Given the description of an element on the screen output the (x, y) to click on. 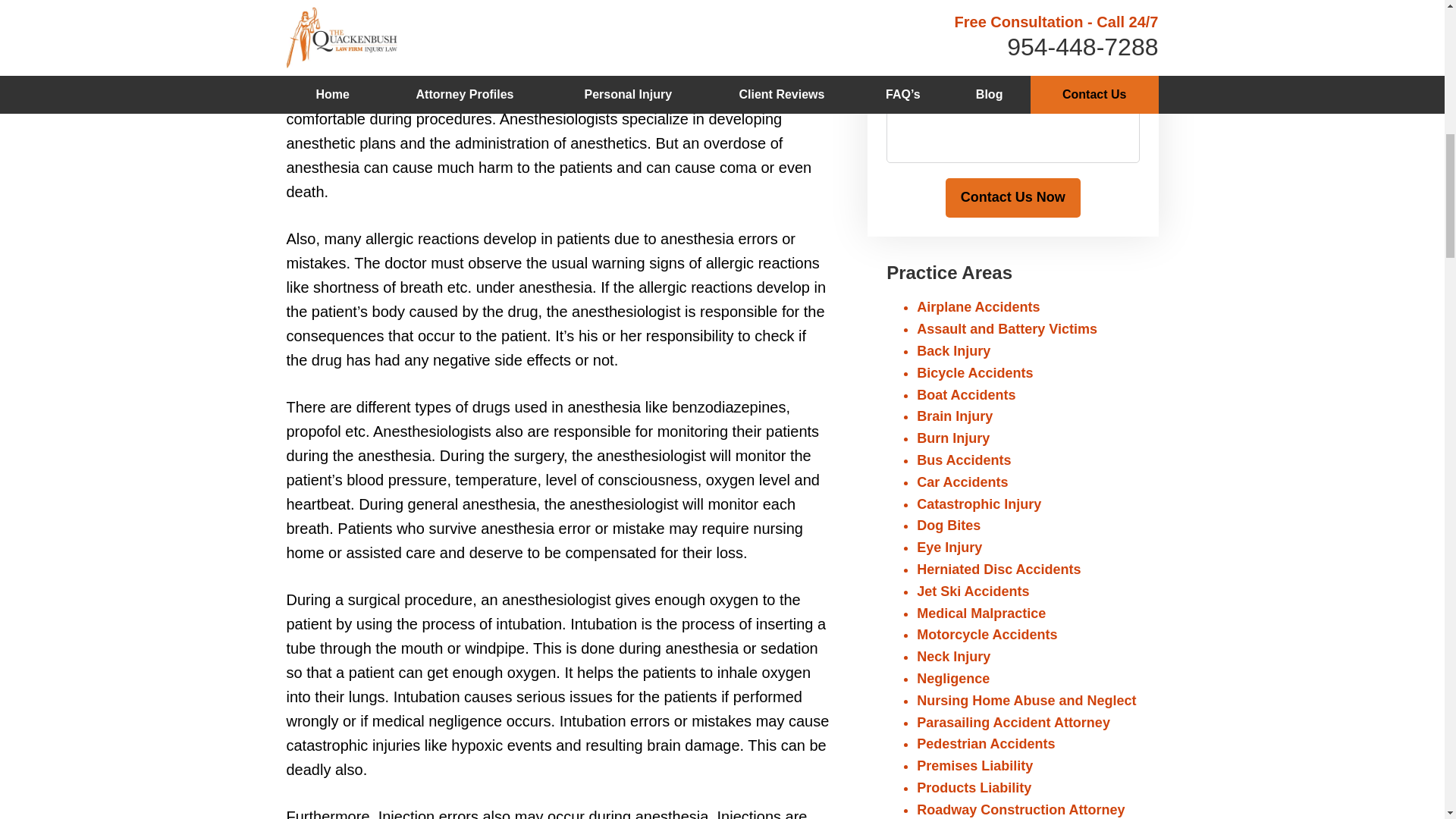
Airplane Accidents (978, 306)
Burn Injury (953, 437)
Dog Bites (948, 525)
Herniated Disc Accidents (998, 569)
Boat Accidents (965, 394)
Car Accidents (962, 482)
Back Injury (953, 350)
Catastrophic Injury (979, 503)
Brain Injury (954, 416)
Contact Us Now (1012, 197)
